Given the description of an element on the screen output the (x, y) to click on. 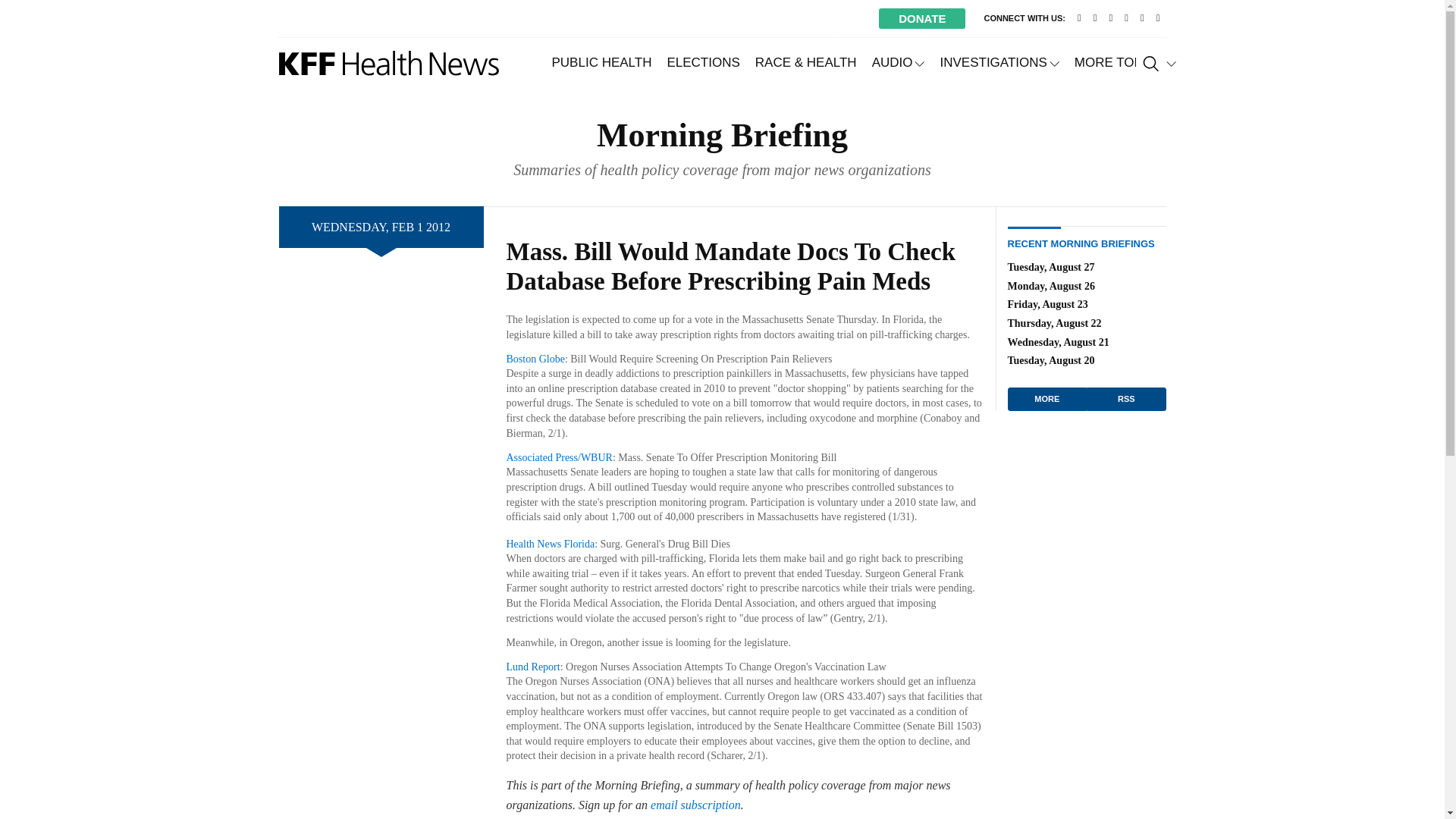
KFF Health News (389, 63)
INVESTIGATIONS (998, 61)
MORE TOPICS (1125, 61)
AUDIO (898, 61)
ELECTIONS (702, 61)
PUBLIC HEALTH (601, 61)
DONATE (922, 18)
